Given the description of an element on the screen output the (x, y) to click on. 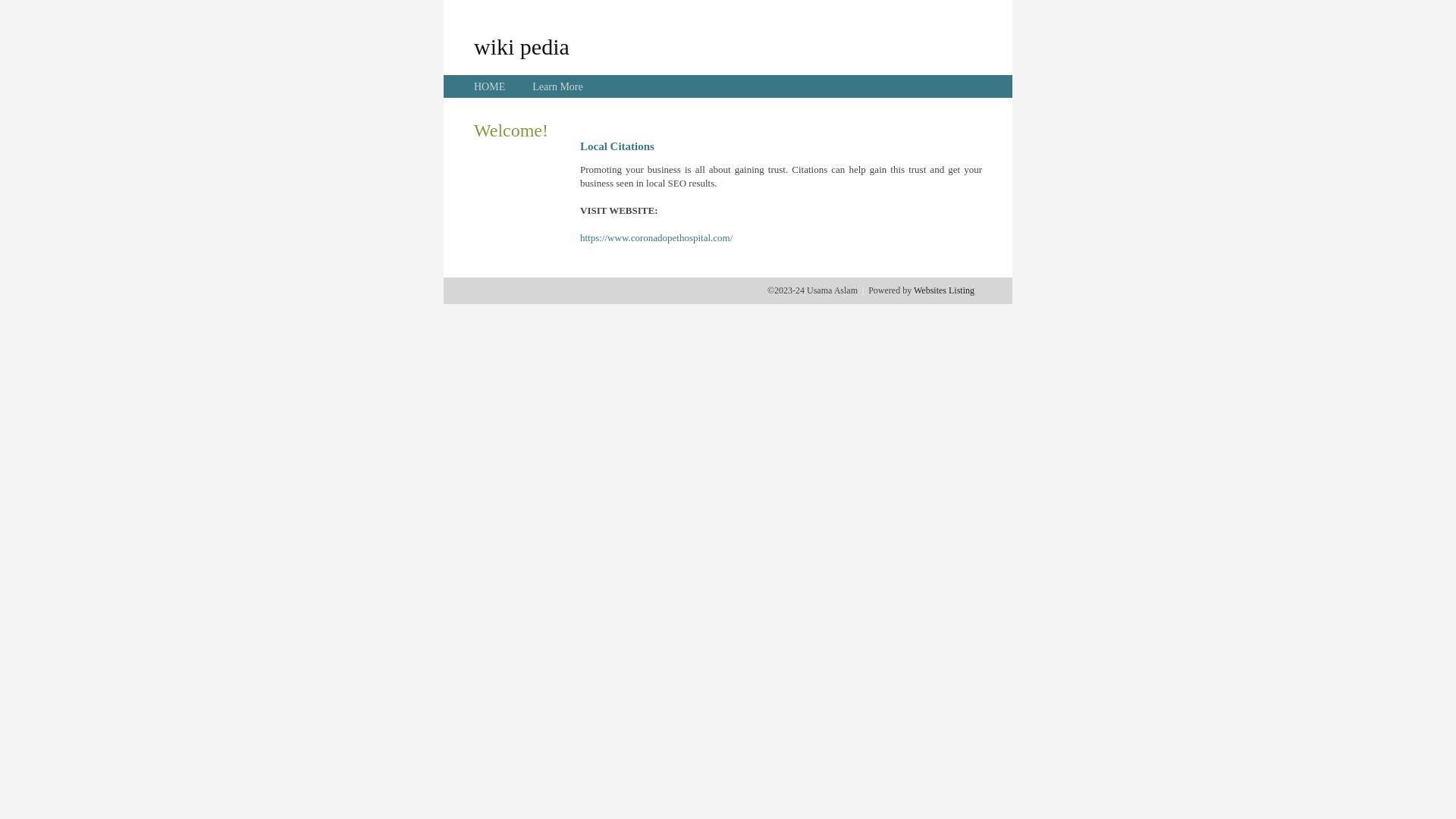
wiki pedia Element type: text (521, 46)
Websites Listing Element type: text (943, 290)
Learn More Element type: text (557, 86)
HOME Element type: text (489, 86)
https://www.coronadopethospital.com/ Element type: text (656, 237)
